Given the description of an element on the screen output the (x, y) to click on. 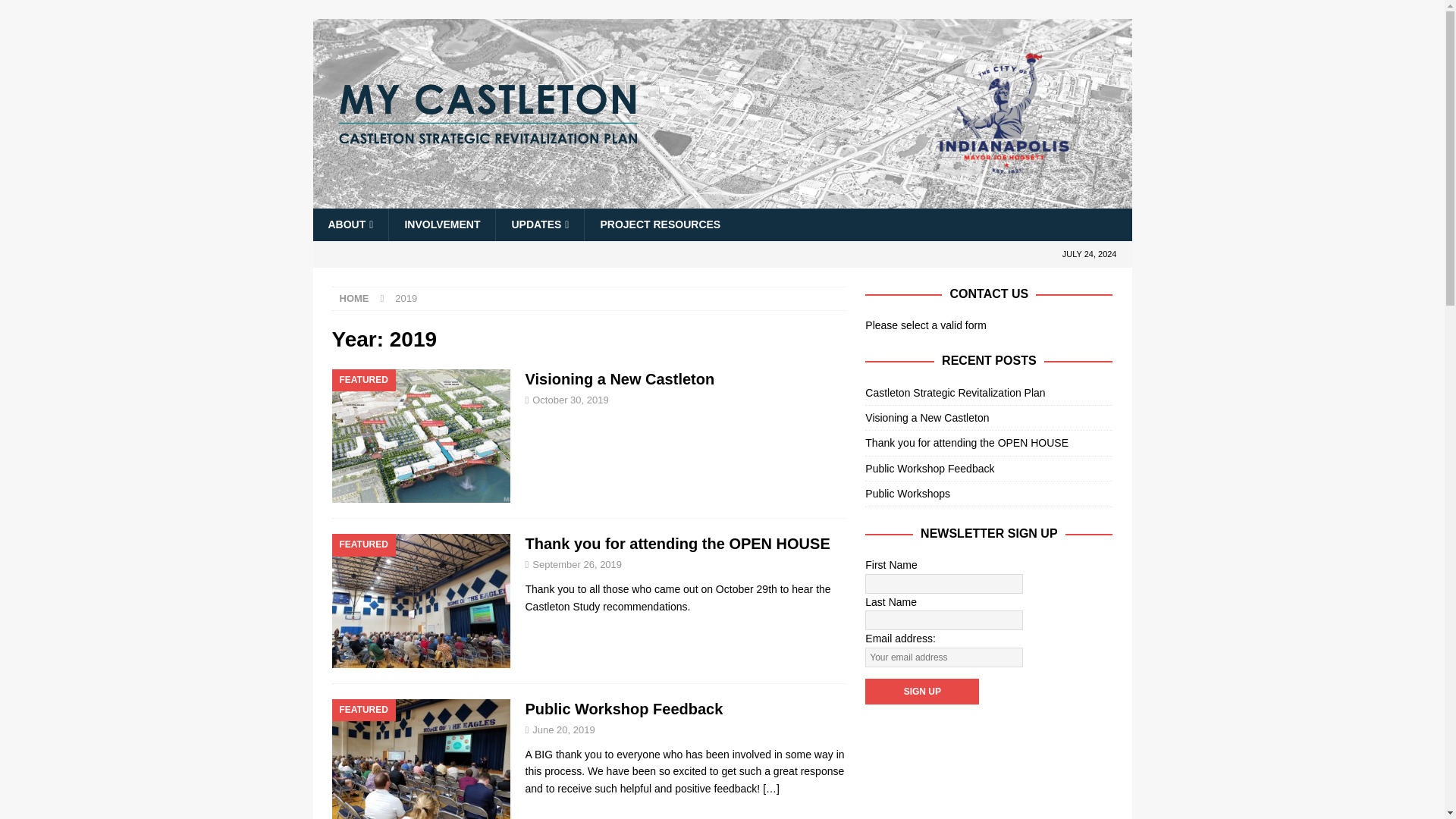
INVOLVEMENT (441, 224)
Thank you for attending the OPEN HOUSE (676, 543)
HOME (354, 297)
Public Workshop Feedback (623, 709)
ABOUT (350, 224)
Visioning a New Castleton (619, 379)
Thank you for attending the OPEN HOUSE (676, 543)
September 26, 2019 (576, 564)
Visioning a New Castleton (619, 379)
June 20, 2019 (563, 729)
October 30, 2019 (570, 399)
My Castleton (722, 200)
Public Workshop Feedback (770, 788)
Public Workshop Feedback (623, 709)
Sign up (921, 691)
